Given the description of an element on the screen output the (x, y) to click on. 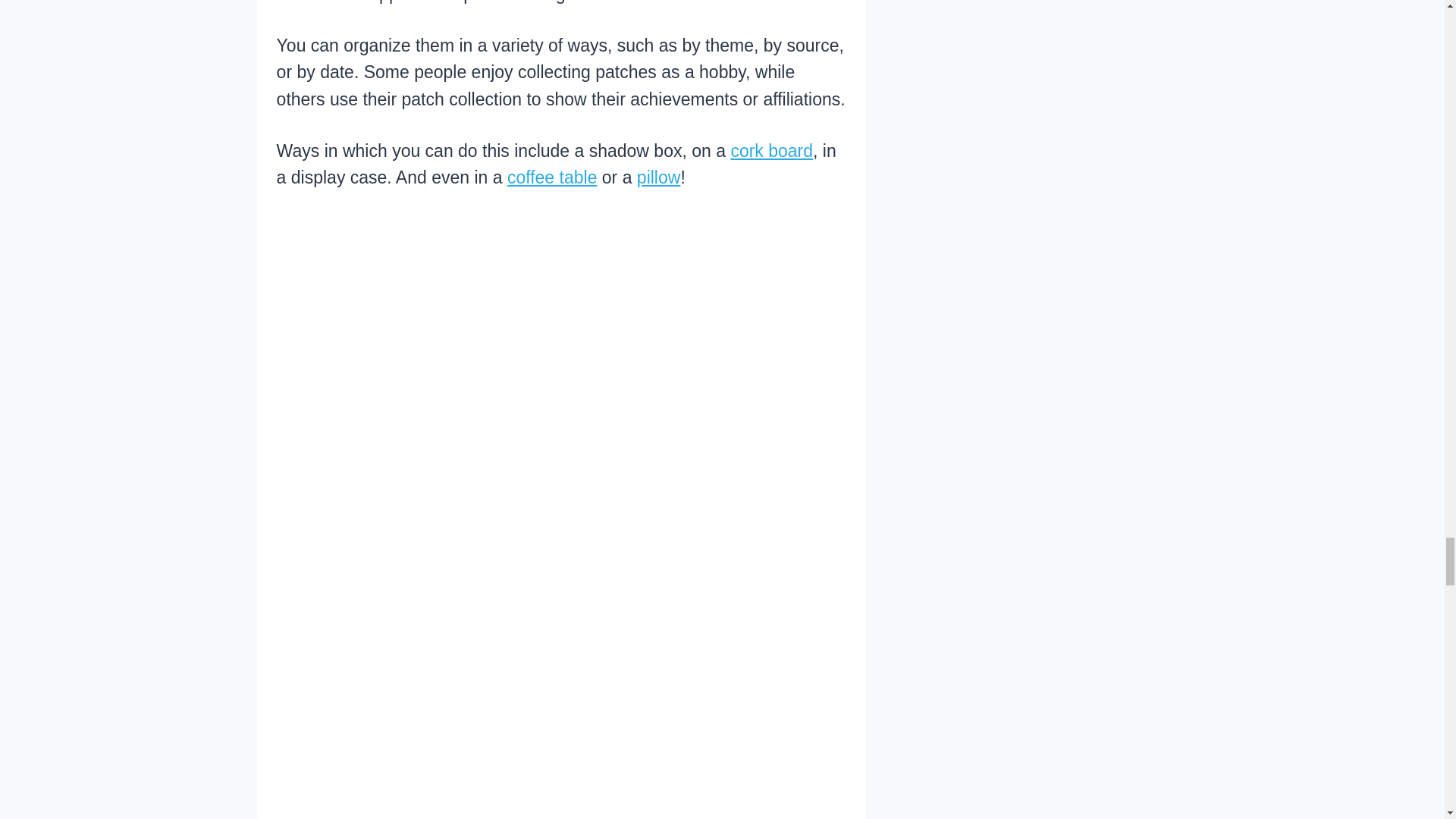
cork board (771, 150)
pillow (659, 177)
coffee table (551, 177)
